Given the description of an element on the screen output the (x, y) to click on. 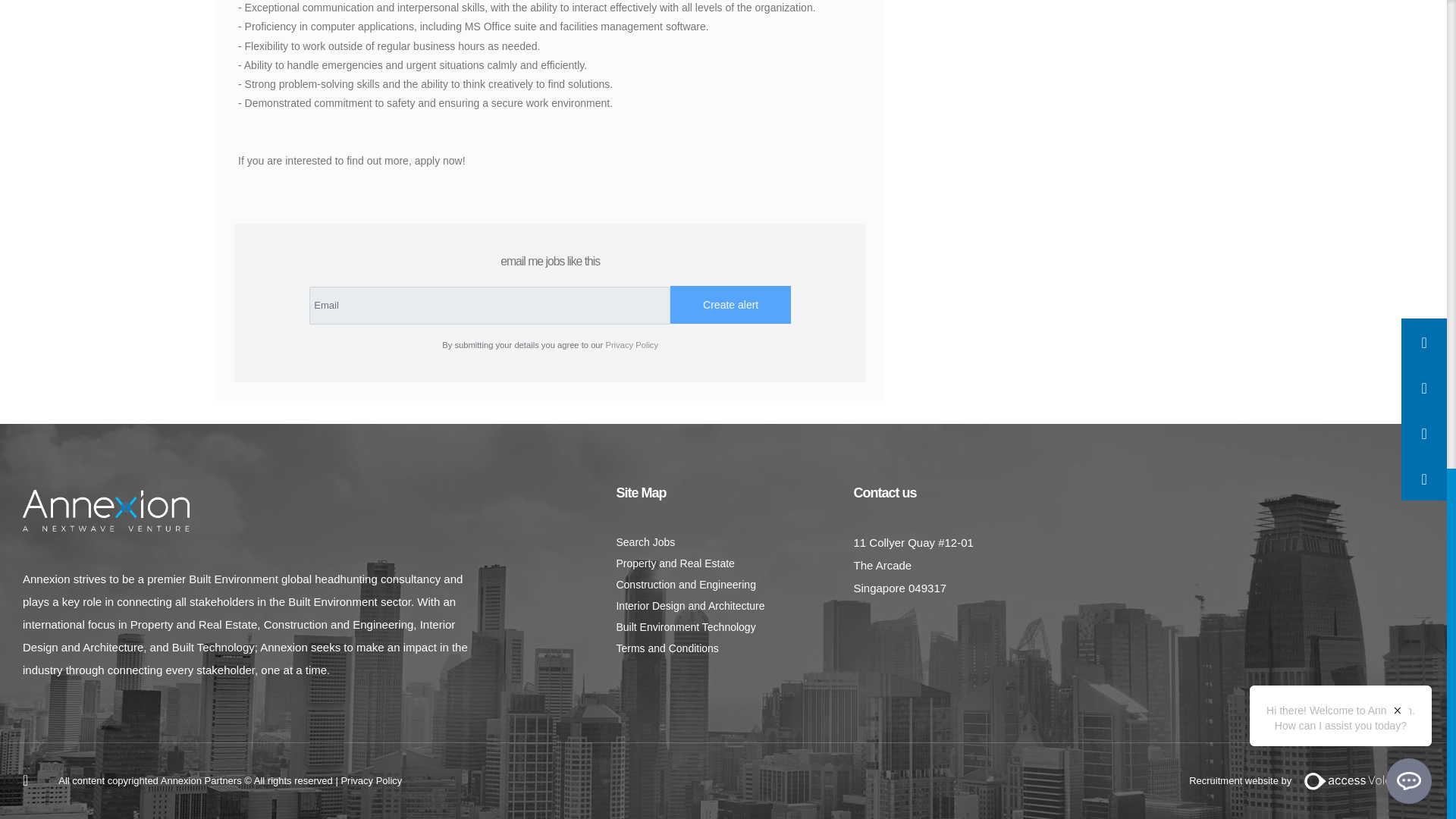
Create alert (729, 304)
privacy policy (370, 780)
Go to the Homepage (106, 510)
Privacy Policy (631, 344)
